Given the description of an element on the screen output the (x, y) to click on. 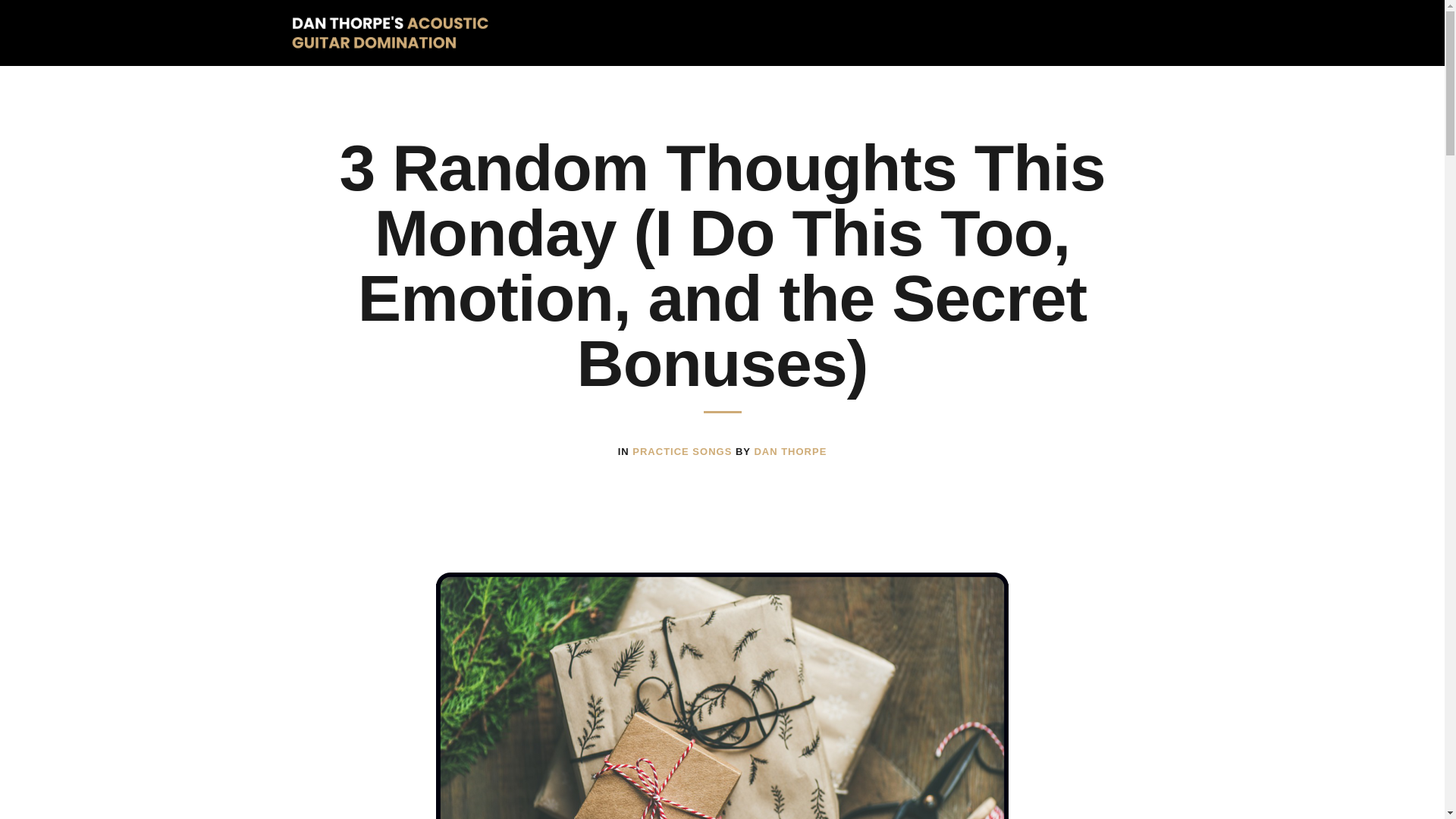
Dan Thorpe (790, 451)
PRACTICE (662, 451)
DAN THORPE (790, 451)
SONGS (714, 451)
View all posts in: Songs (714, 451)
View all posts in: Practice (662, 451)
